Given the description of an element on the screen output the (x, y) to click on. 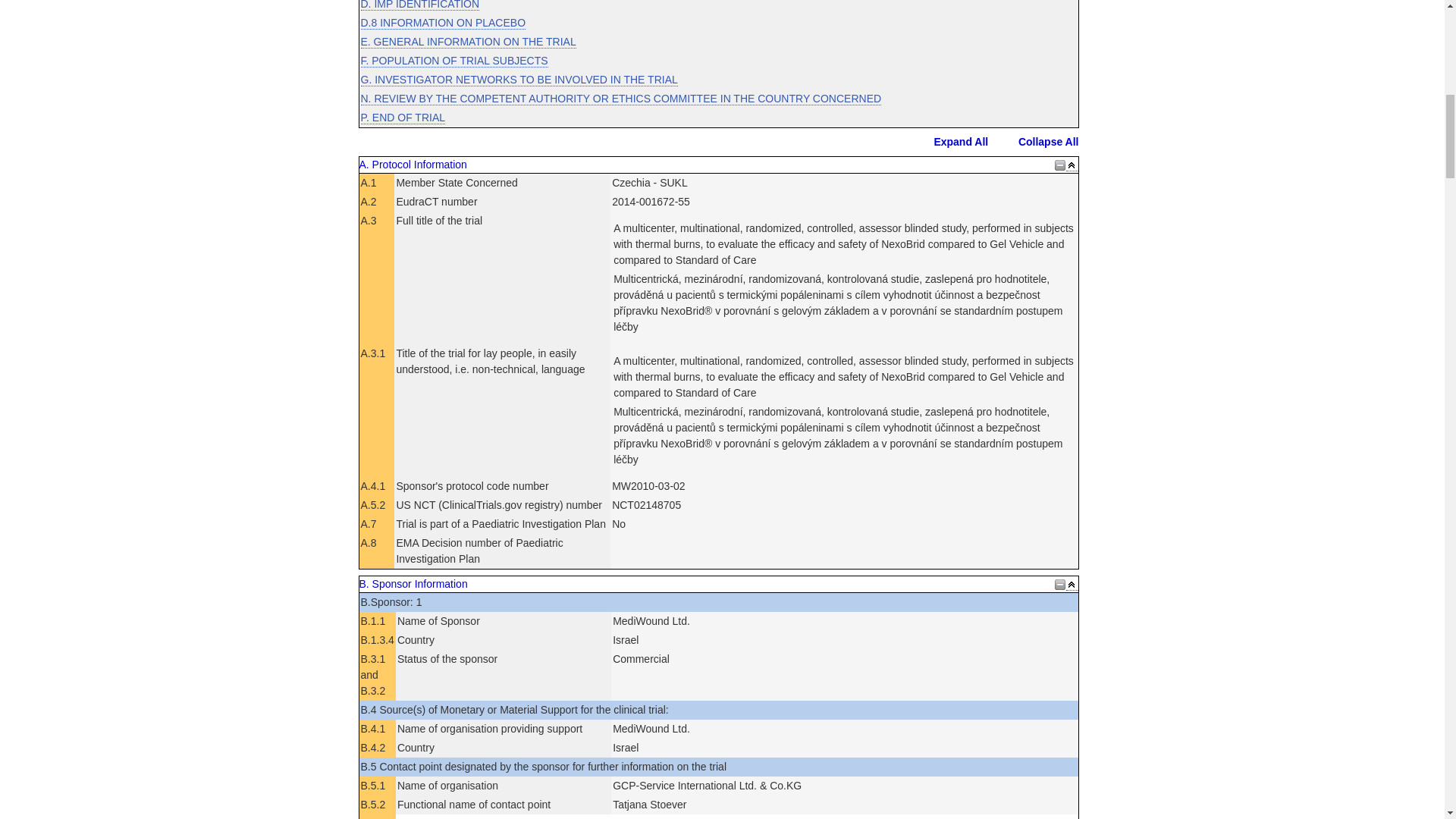
E. GENERAL INFORMATION ON THE TRIAL (468, 41)
P. END OF TRIAL (403, 116)
F. POPULATION OF TRIAL SUBJECTS (454, 60)
D.8 INFORMATION ON PLACEBO (443, 22)
D. IMP IDENTIFICATION (420, 4)
G. INVESTIGATOR NETWORKS TO BE INVOLVED IN THE TRIAL (519, 78)
